Given the description of an element on the screen output the (x, y) to click on. 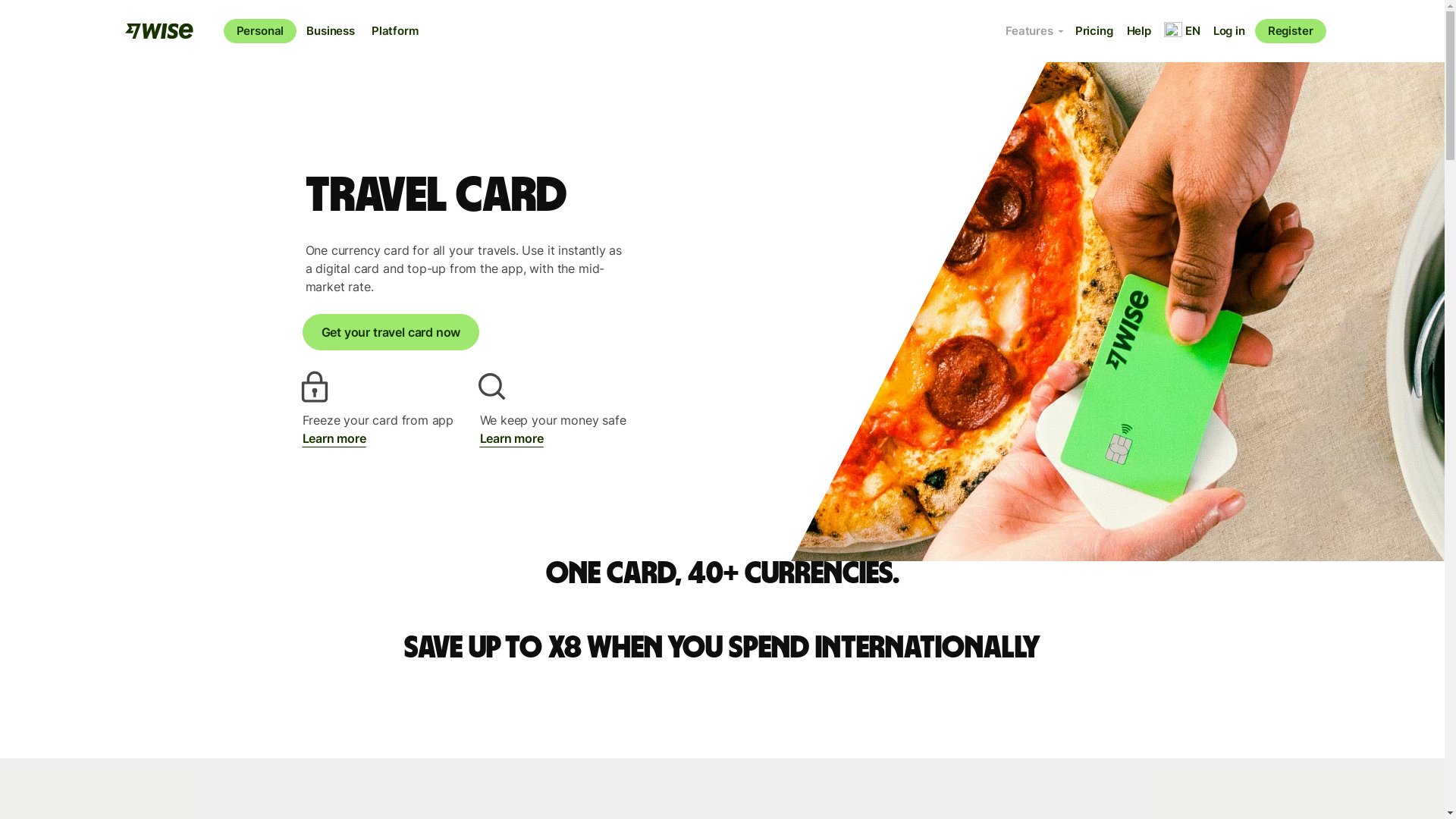
Business (330, 30)
Personal (259, 30)
Log in (1229, 30)
Help (1138, 30)
Get your travel card now (390, 331)
Pricing (1093, 30)
Register (1290, 30)
Features (1033, 30)
Learn more (511, 437)
Learn more (333, 437)
Platform (395, 30)
